Given the description of an element on the screen output the (x, y) to click on. 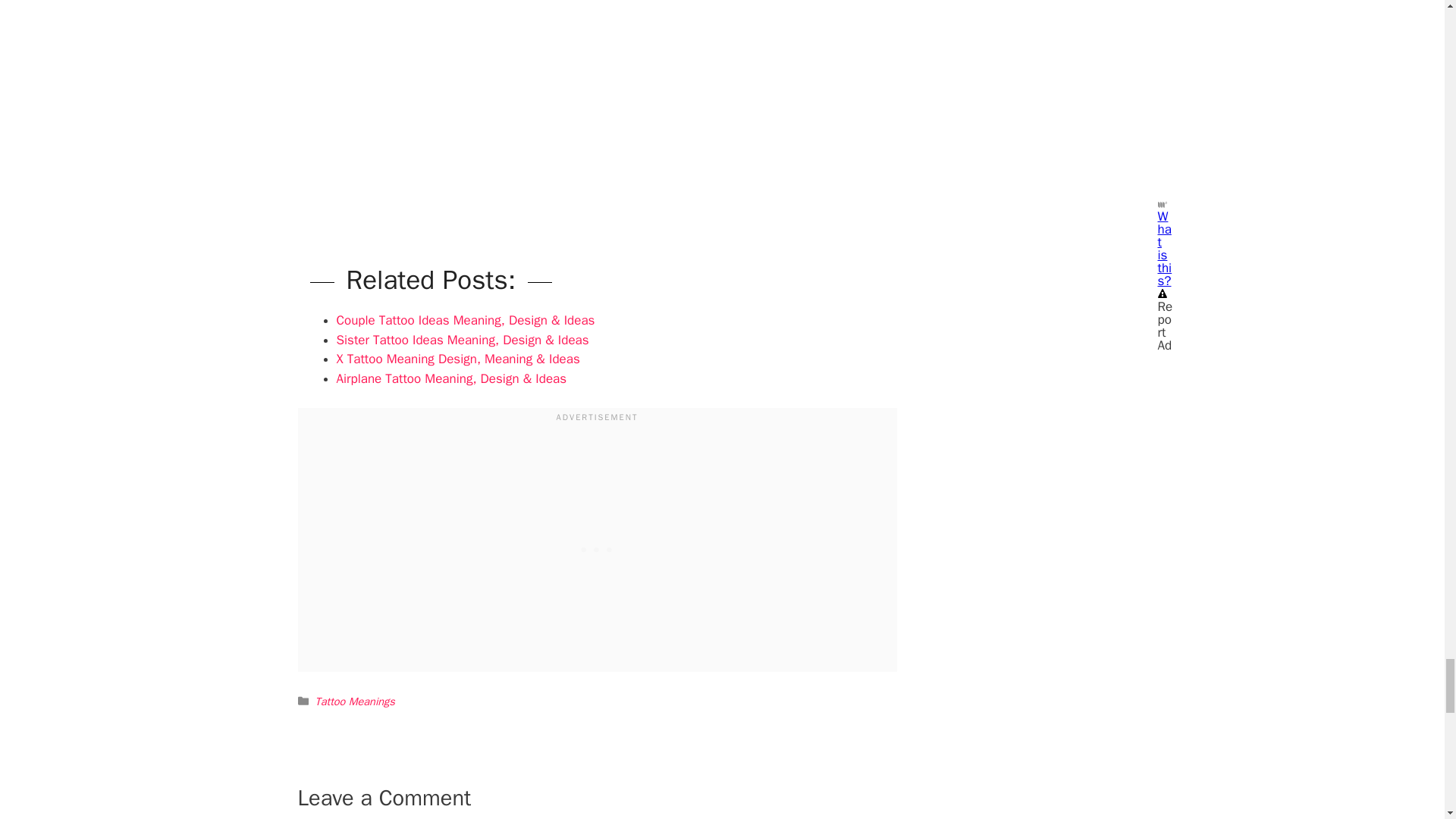
Tattoo Meanings (354, 701)
